Given the description of an element on the screen output the (x, y) to click on. 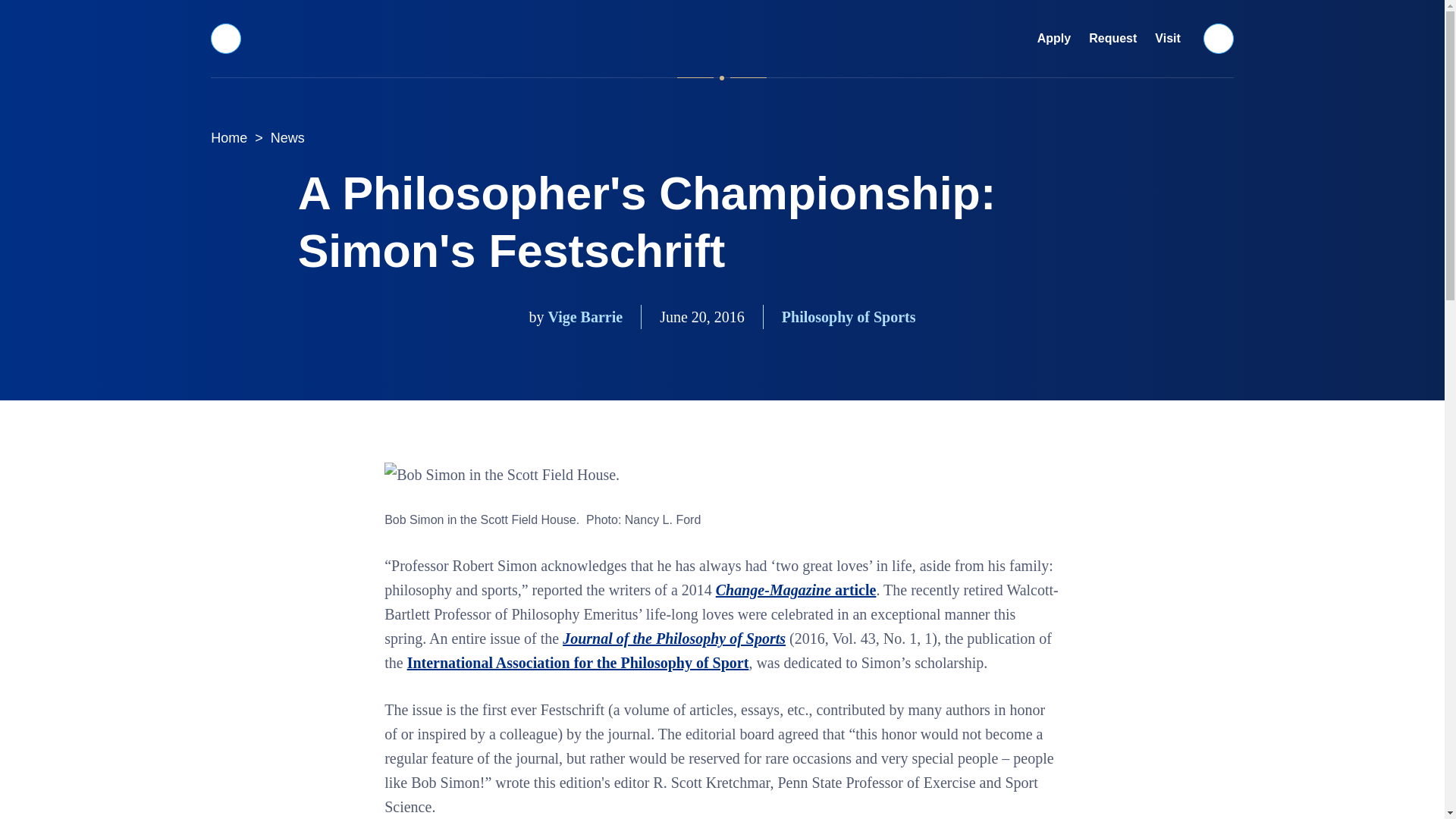
Vige Barrie (585, 316)
Hamilton (721, 38)
Menu (225, 38)
News (288, 138)
International Association for the Philosophy of Sport (578, 662)
Journal of the Philosophy of Sports (674, 638)
Request (1112, 38)
Apply (1053, 38)
Search (1218, 38)
Philosophy of Sports (848, 316)
